Given the description of an element on the screen output the (x, y) to click on. 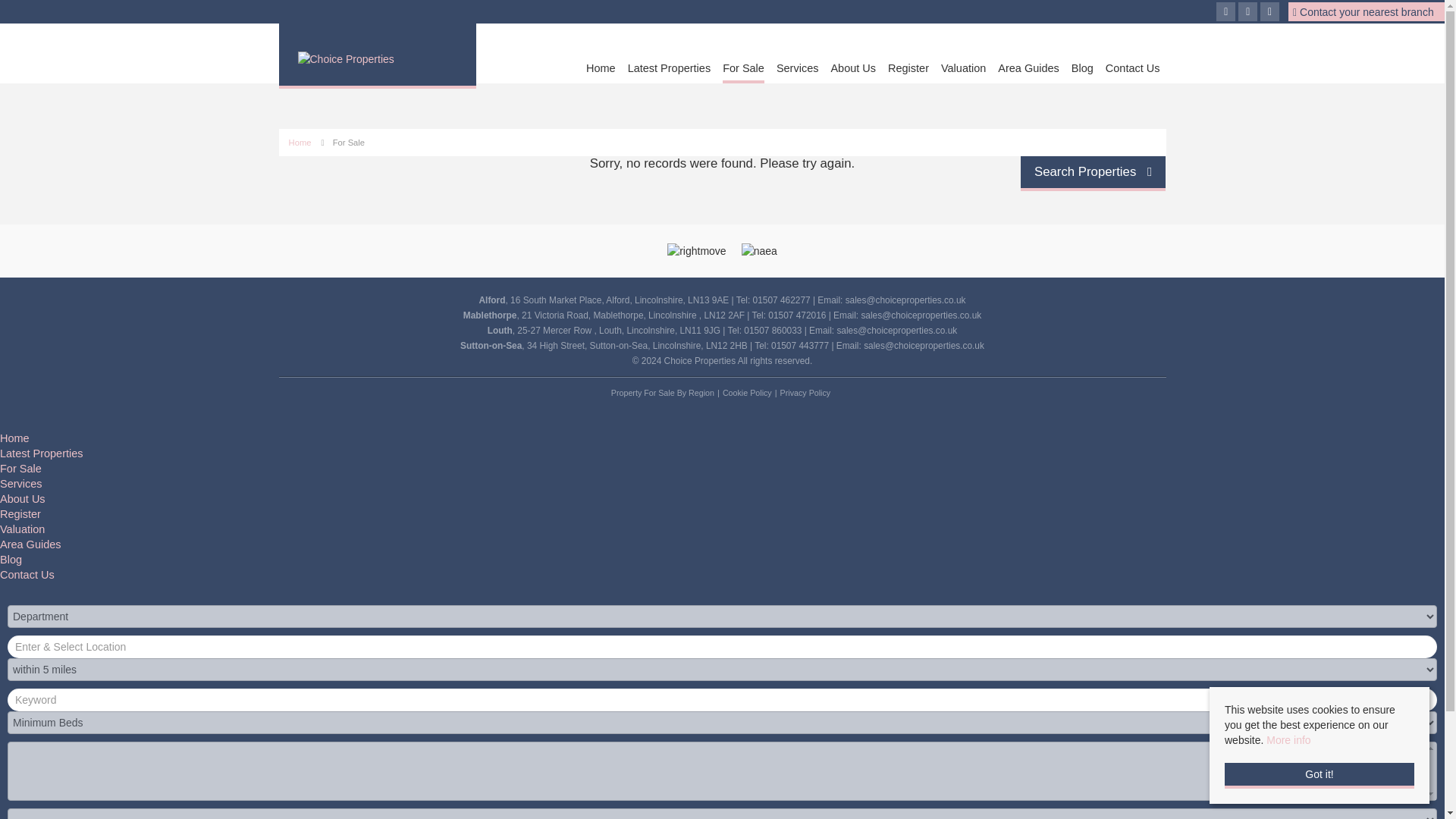
Home (600, 71)
Property For Sale By Region (663, 392)
Home (299, 142)
More info (1288, 739)
For Sale (743, 71)
Blog (1082, 71)
Contact your nearest branch (1363, 11)
Register (908, 71)
Cookie Policy (746, 392)
Services (797, 71)
